Given the description of an element on the screen output the (x, y) to click on. 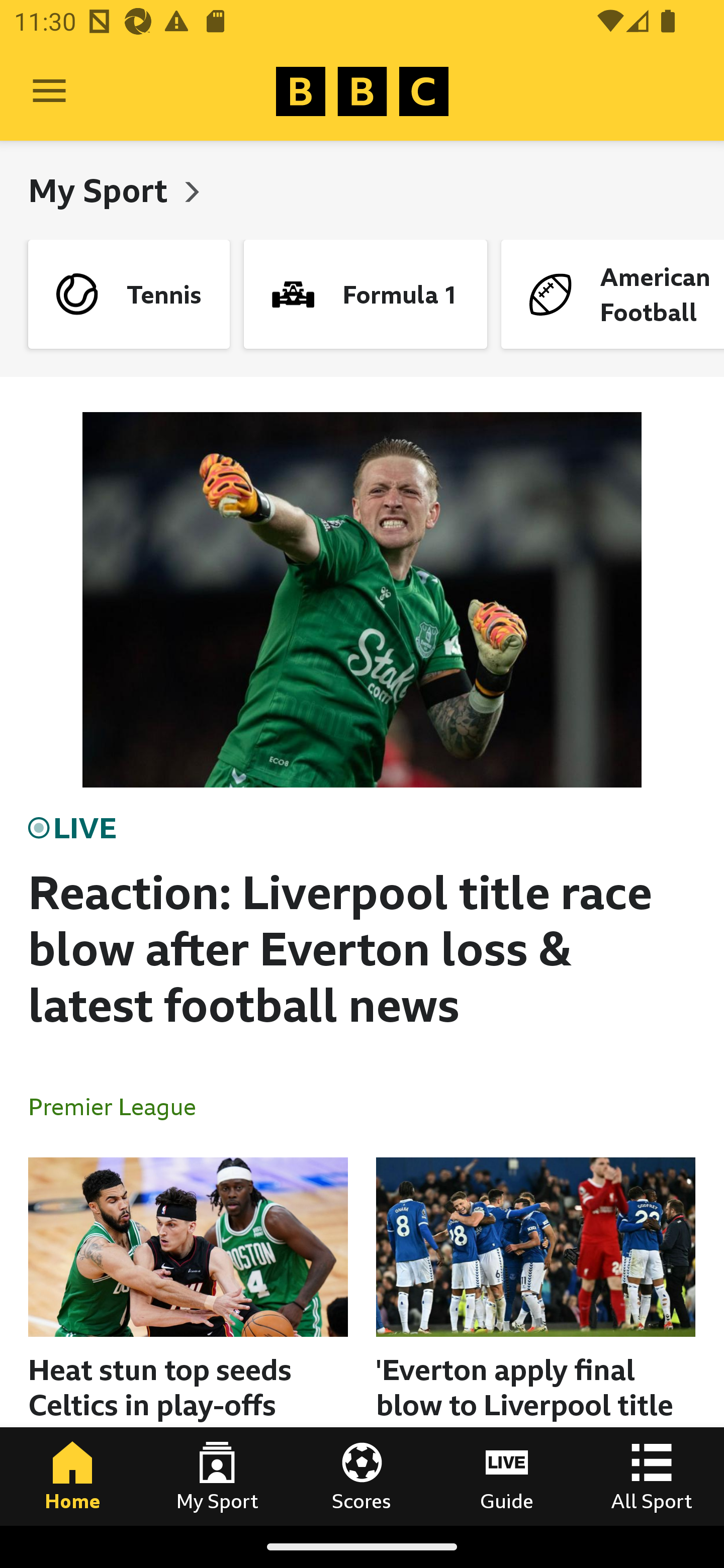
Open Menu (49, 91)
My Sport (101, 190)
Premier League In the section Premier League (119, 1106)
My Sport (216, 1475)
Scores (361, 1475)
Guide (506, 1475)
All Sport (651, 1475)
